Given the description of an element on the screen output the (x, y) to click on. 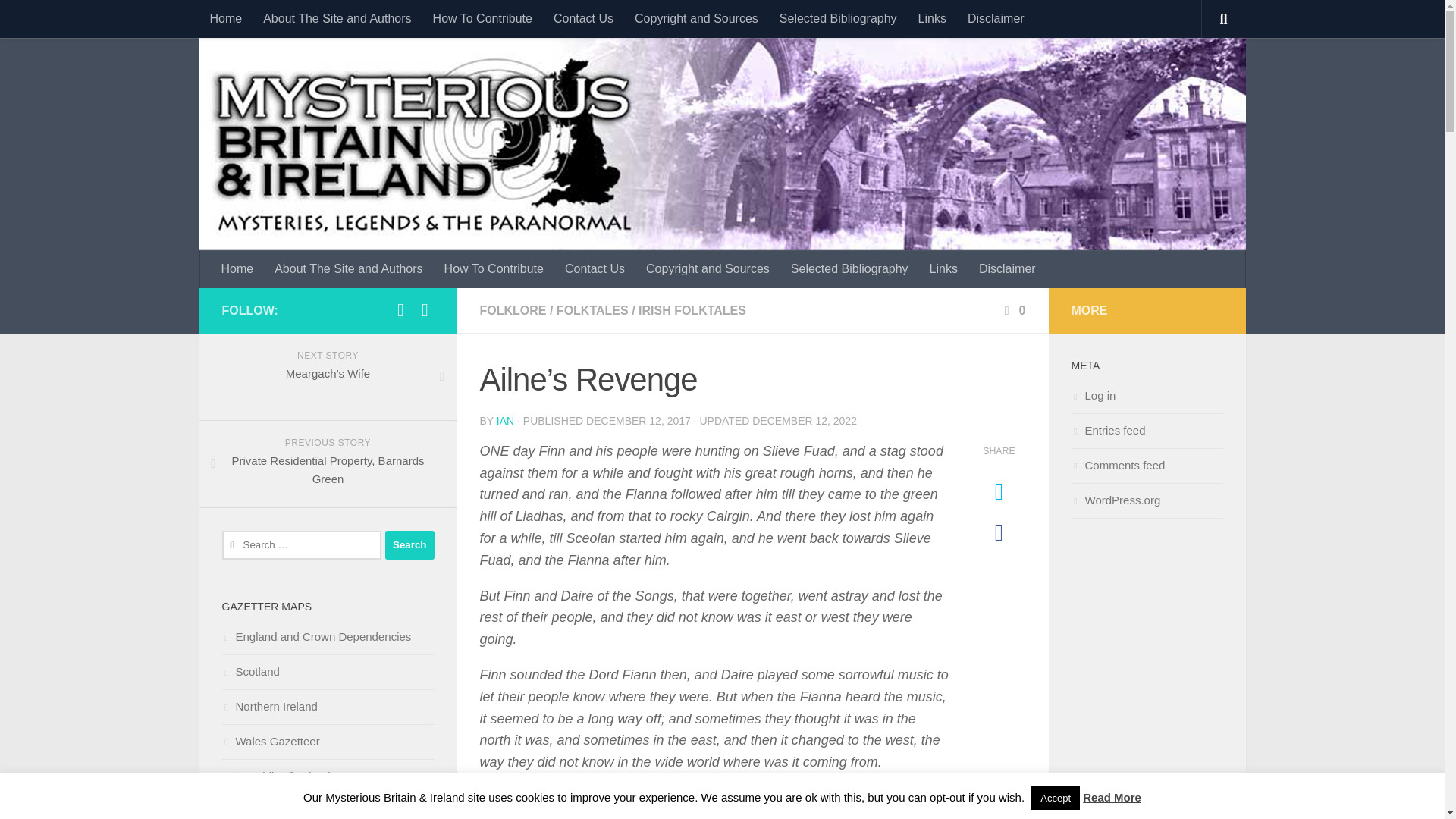
Copyright and Sources (707, 269)
Copyright and Sources (696, 18)
Selected Bibliography (849, 269)
Home (237, 269)
FOLKLORE (512, 309)
Links (943, 269)
Selected Bibliography (837, 18)
Contact Us (594, 269)
About The Site and Authors (336, 18)
Skip to content (63, 20)
How To Contribute (482, 18)
IAN (504, 420)
Follow us on Facebook (400, 310)
Disclaimer (1007, 269)
Follow us on Twitter (423, 310)
